Given the description of an element on the screen output the (x, y) to click on. 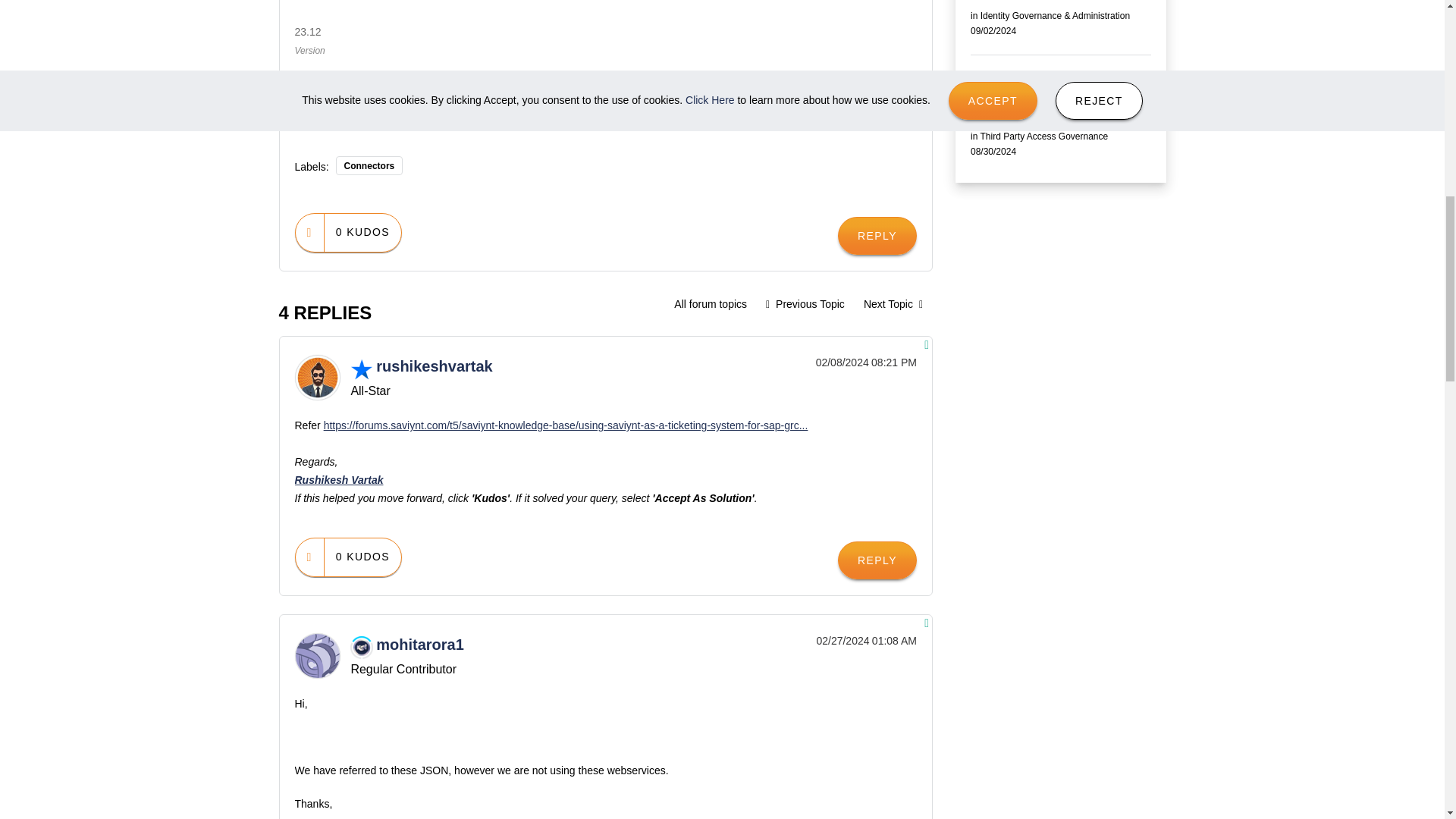
The total number of kudos this post has received. (362, 556)
rushikeshvartak (316, 377)
All-Star (361, 368)
The total number of kudos this post has received. (362, 231)
